Given the description of an element on the screen output the (x, y) to click on. 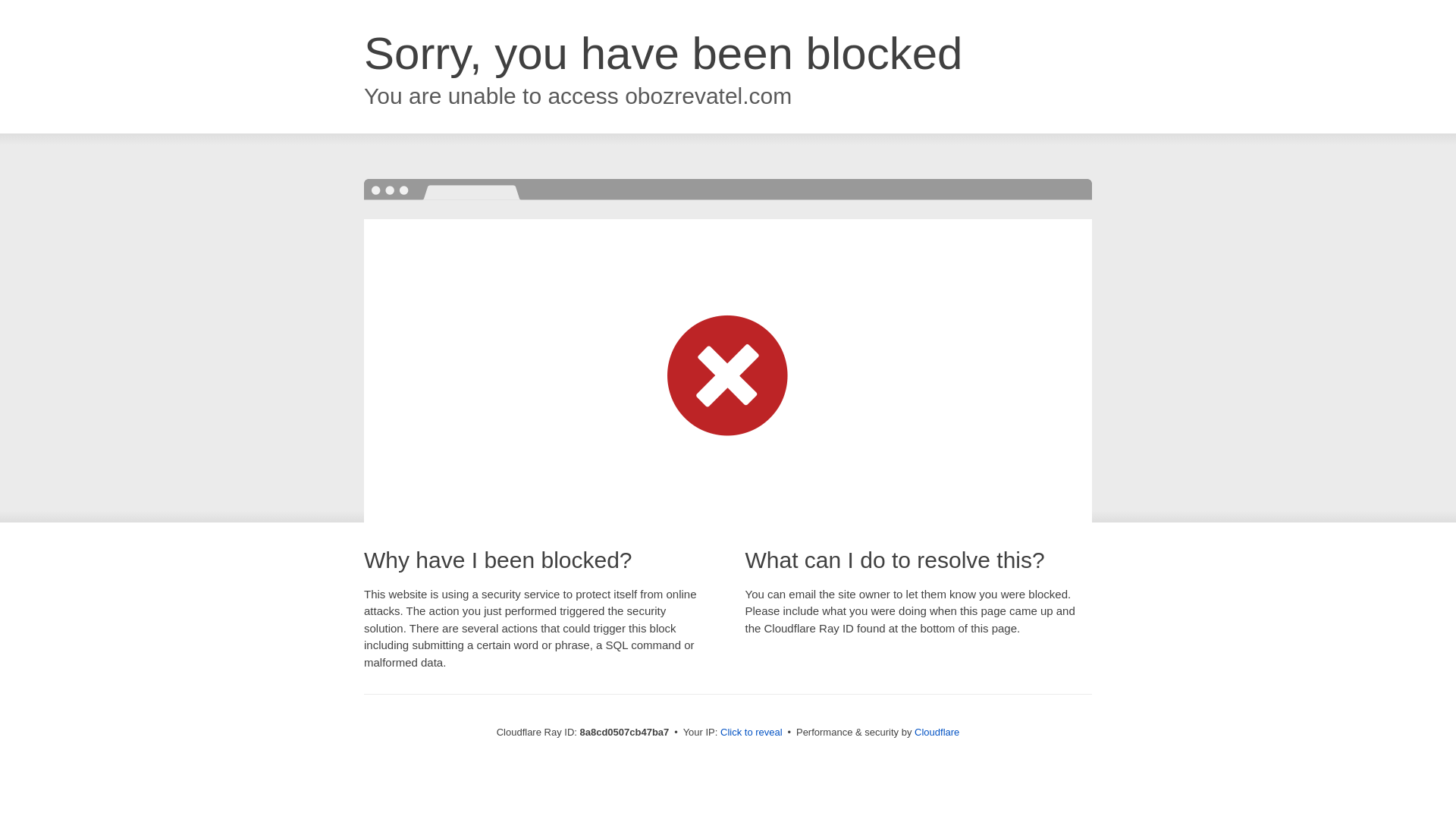
Click to reveal (751, 732)
Cloudflare (936, 731)
